Given the description of an element on the screen output the (x, y) to click on. 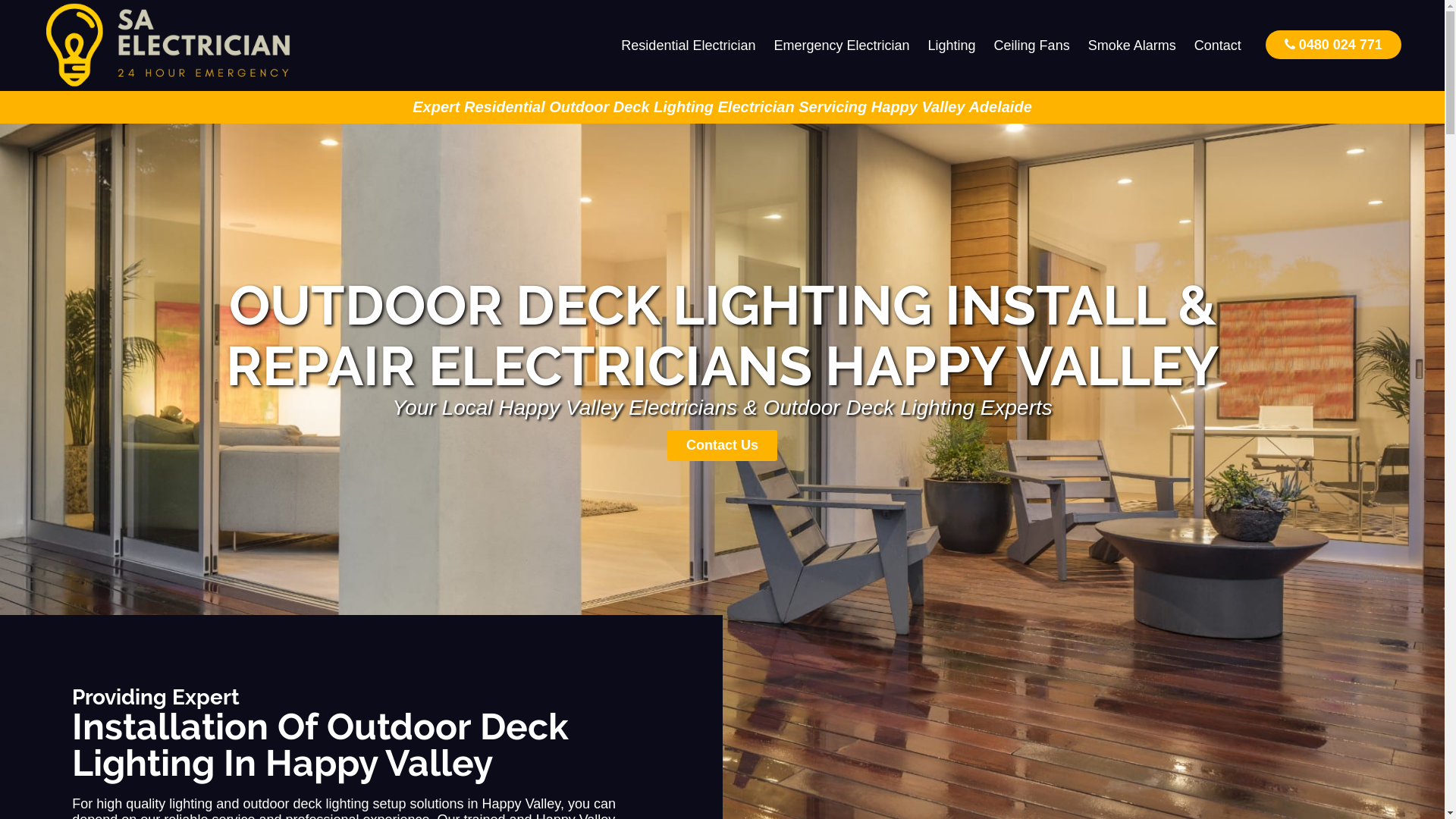
Contact Element type: text (1217, 45)
Emergency Electrician Element type: text (841, 45)
Smoke Alarms Element type: text (1132, 45)
Contact Us Element type: text (722, 445)
Lighting Element type: text (952, 45)
0480 024 771 Element type: text (1333, 44)
Ceiling Fans Element type: text (1032, 45)
Residential Electrician Element type: text (687, 45)
